Given the description of an element on the screen output the (x, y) to click on. 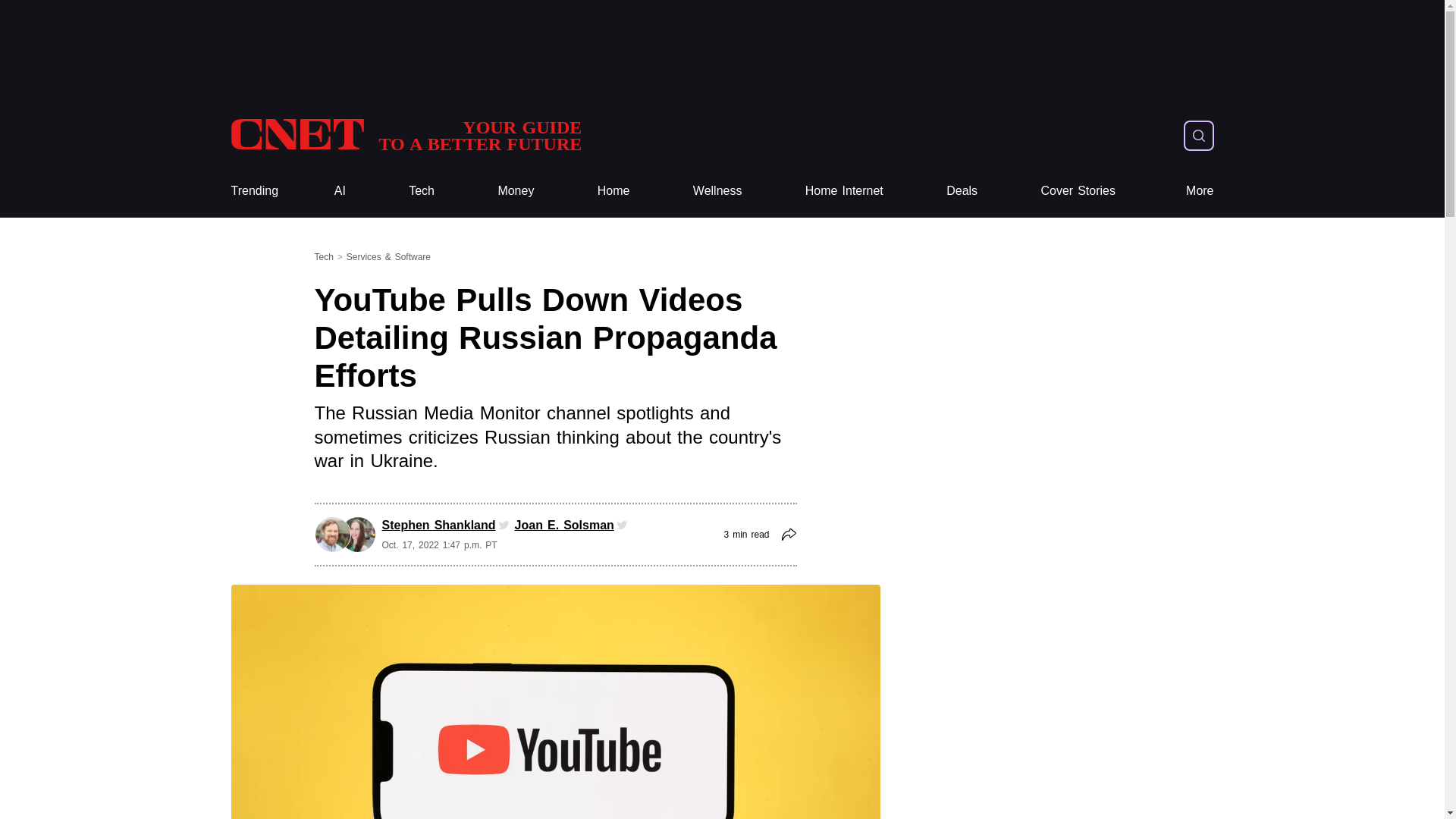
Wellness (717, 190)
Trending (254, 190)
Money (515, 190)
Trending (254, 190)
Home (405, 135)
Tech (613, 190)
More (421, 190)
Tech (1199, 190)
Home (421, 190)
